Given the description of an element on the screen output the (x, y) to click on. 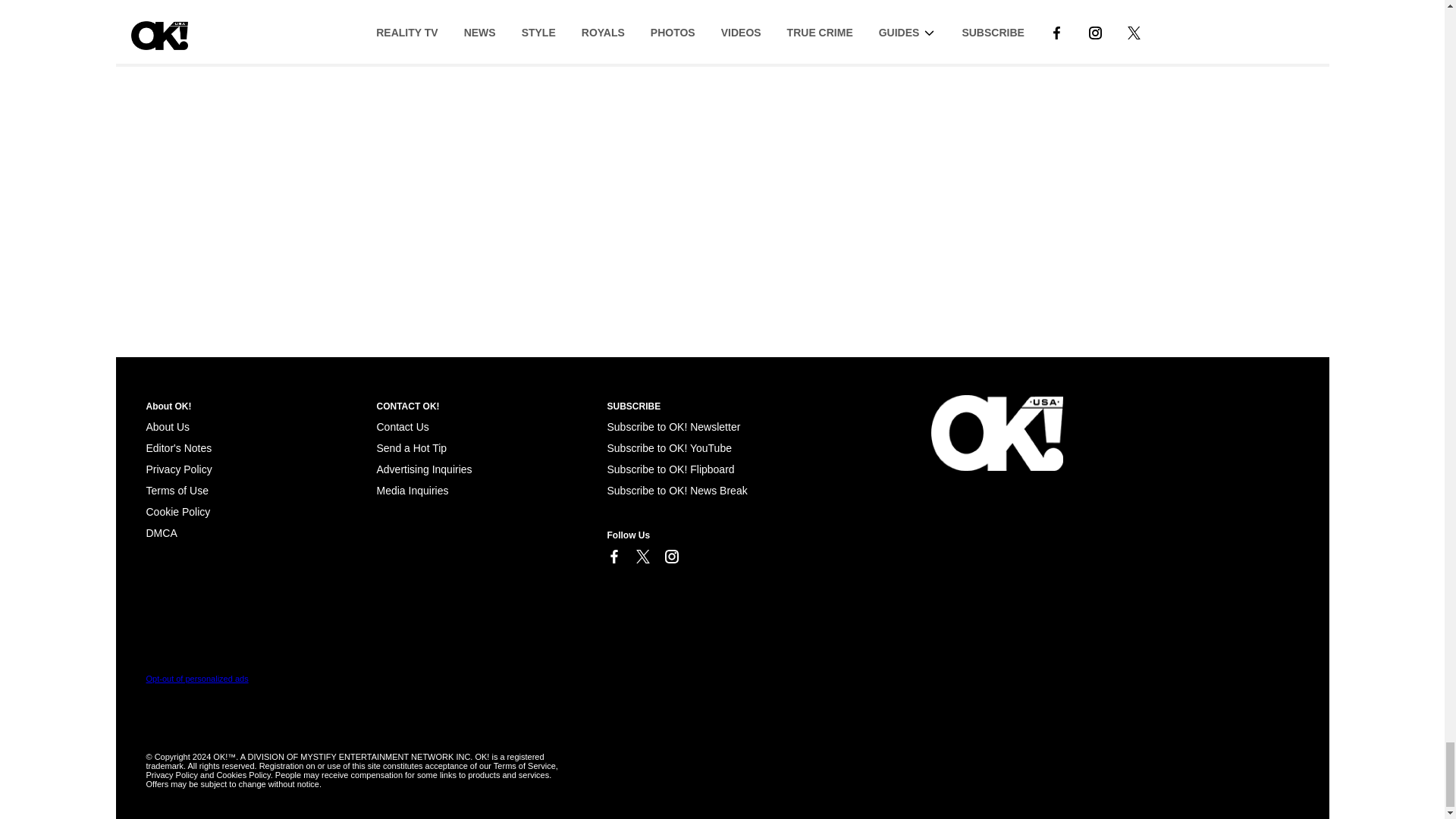
Contact Us (401, 426)
Terms of Use (176, 490)
Link to Facebook (613, 556)
About Us (167, 426)
Send a Hot Tip (410, 448)
Link to X (641, 556)
Privacy Policy (178, 469)
Link to Instagram (670, 556)
Editor's Notes (178, 448)
Cookie Policy (160, 532)
